Given the description of an element on the screen output the (x, y) to click on. 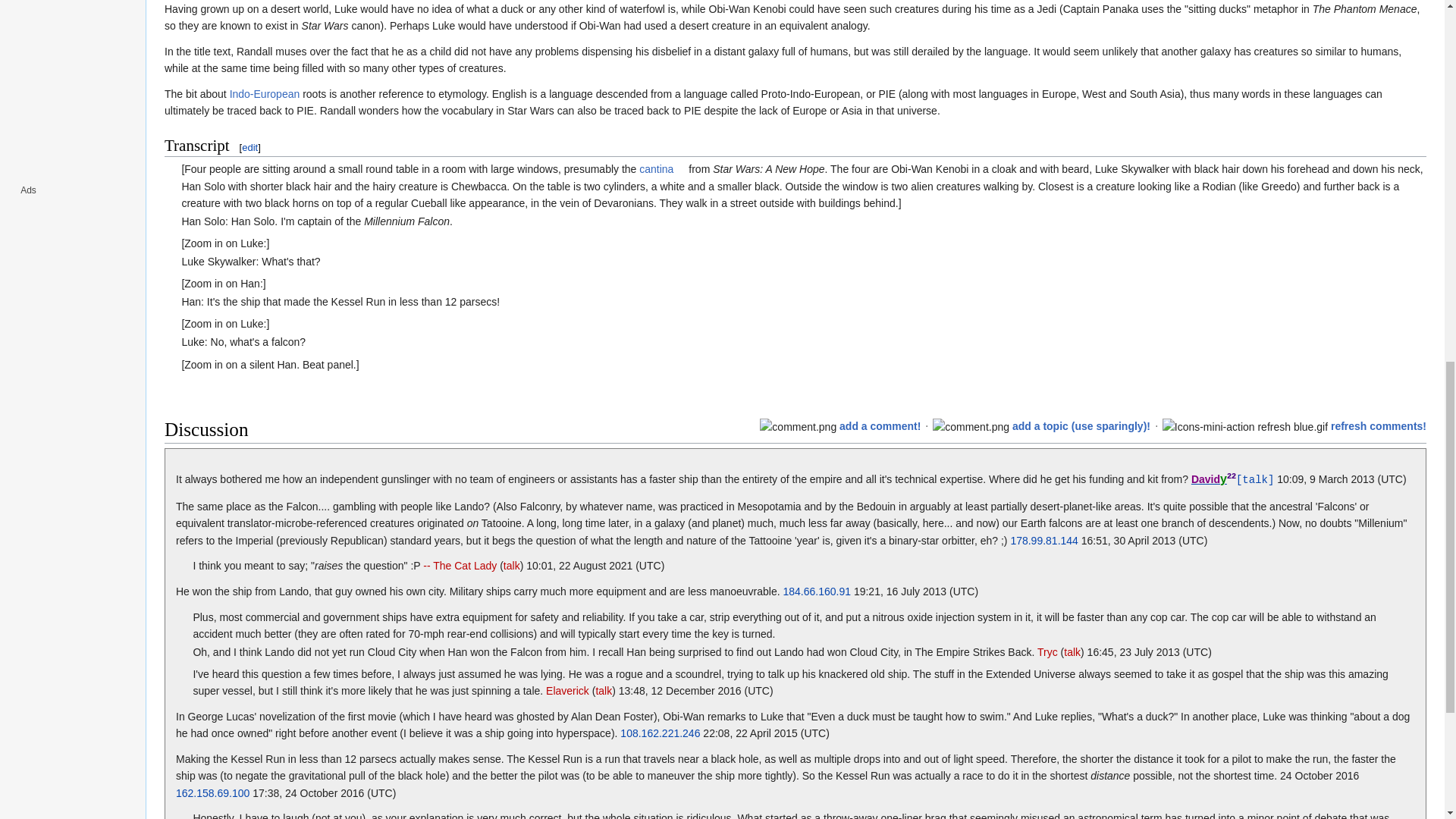
178.99.81.144 (1044, 540)
add a comment! (880, 426)
cantina (662, 168)
refresh comments! (1378, 426)
Indo-European (264, 93)
-- The Cat Lady (459, 565)
edit (249, 147)
